Given the description of an element on the screen output the (x, y) to click on. 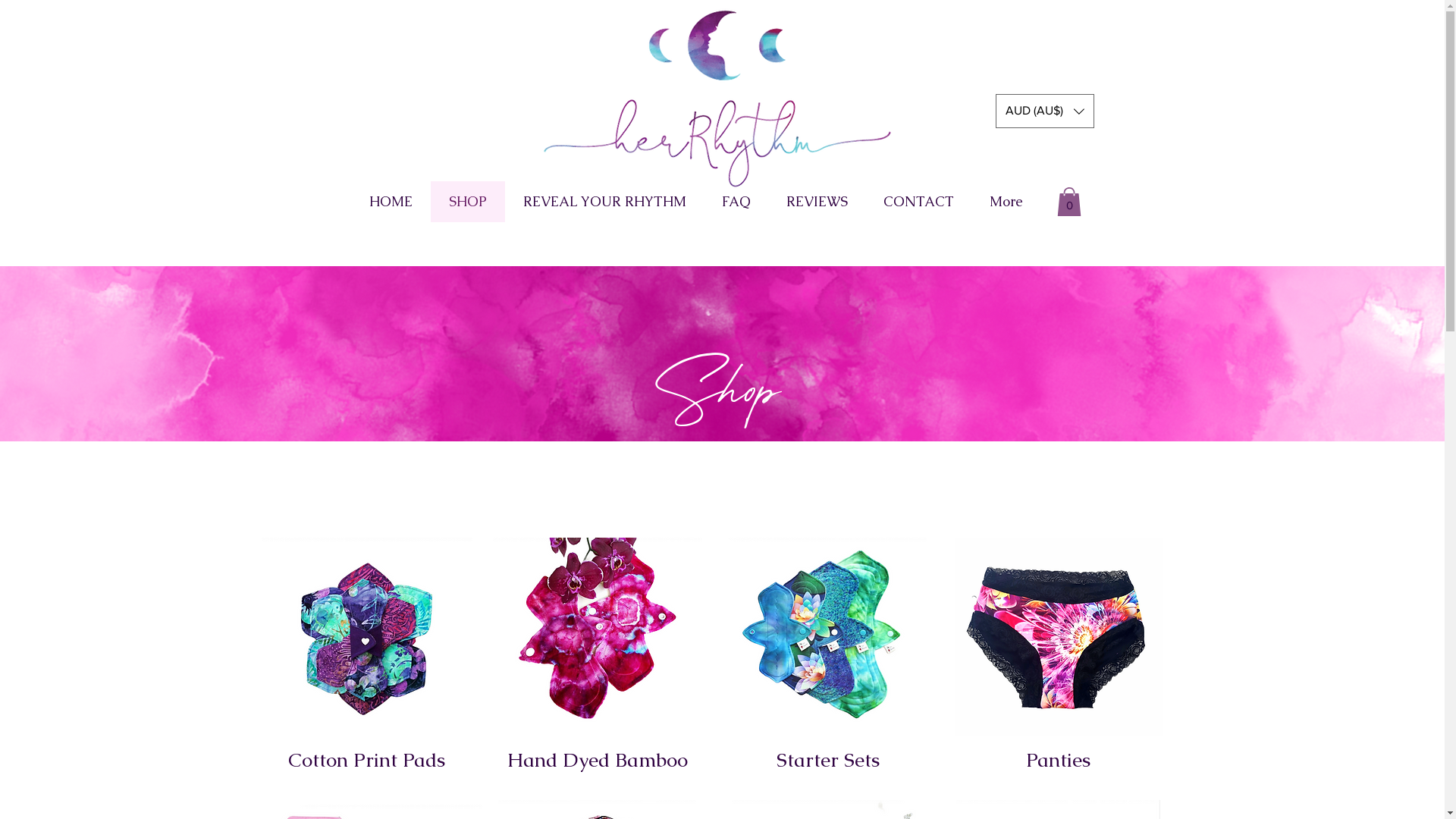
HOME Element type: text (389, 201)
CONTACT Element type: text (919, 201)
SHOP Element type: text (467, 201)
REVEAL YOUR RHYTHM Element type: text (604, 201)
AUD (AU$) Element type: text (1043, 111)
0 Element type: text (1069, 201)
FAQ Element type: text (735, 201)
REVIEWS Element type: text (817, 201)
